Given the description of an element on the screen output the (x, y) to click on. 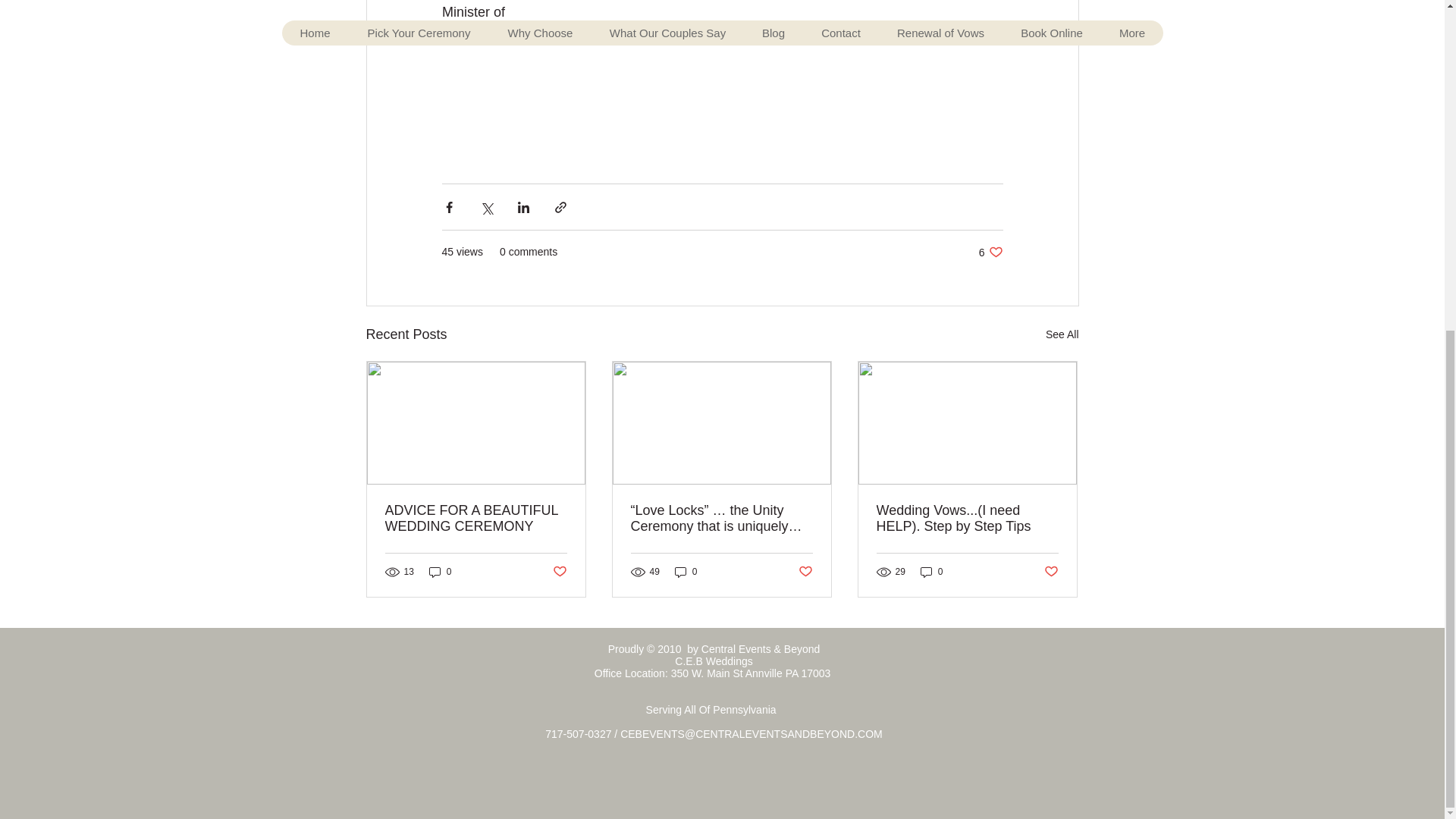
ADVICE FOR A BEAUTIFUL WEDDING CEREMONY (476, 518)
Post not marked as liked (558, 571)
Post not marked as liked (1050, 571)
0 (440, 571)
See All (1061, 334)
0 (990, 251)
Post not marked as liked (931, 571)
0 (804, 571)
